Given the description of an element on the screen output the (x, y) to click on. 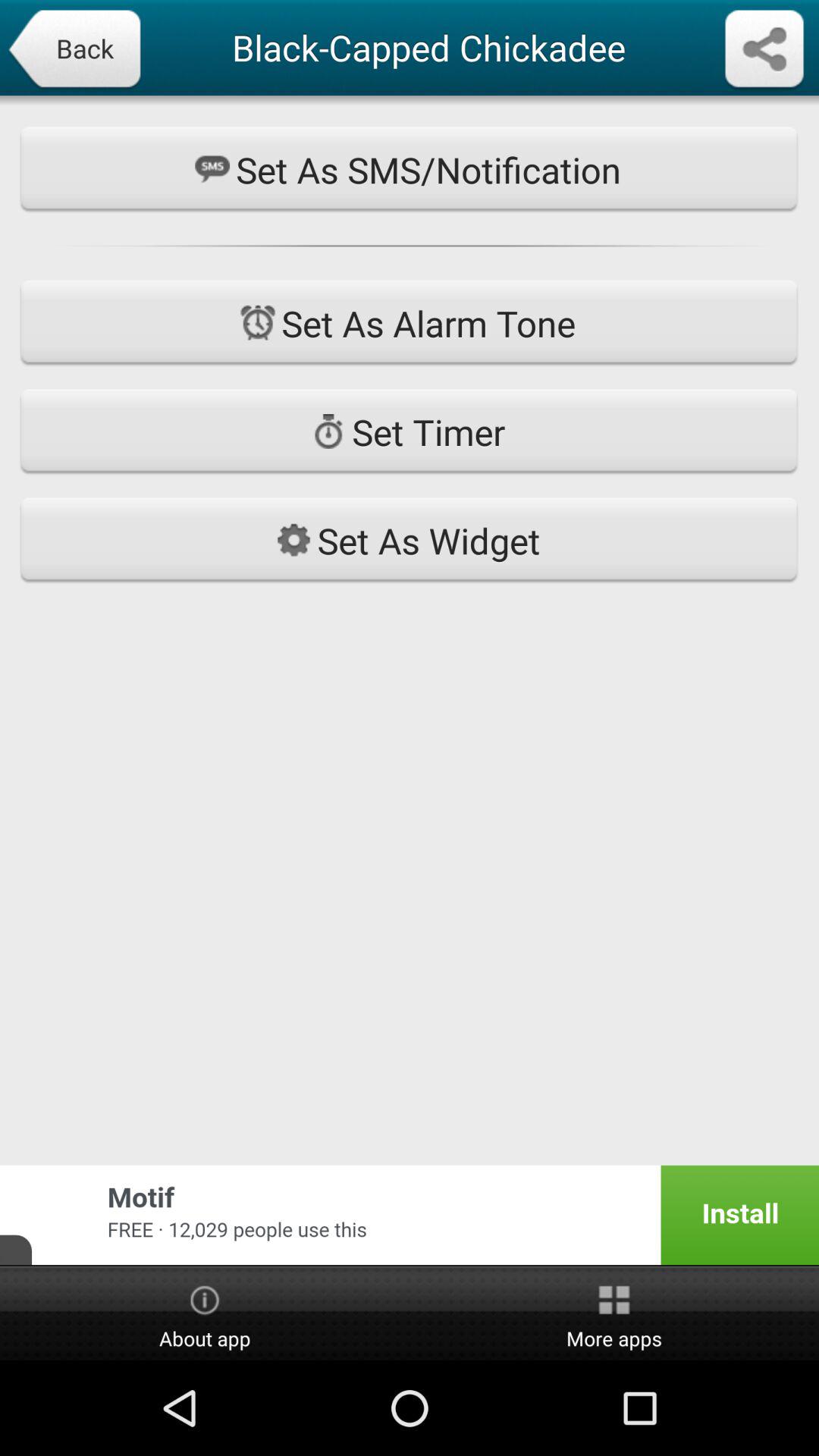
hit share option (764, 50)
